Given the description of an element on the screen output the (x, y) to click on. 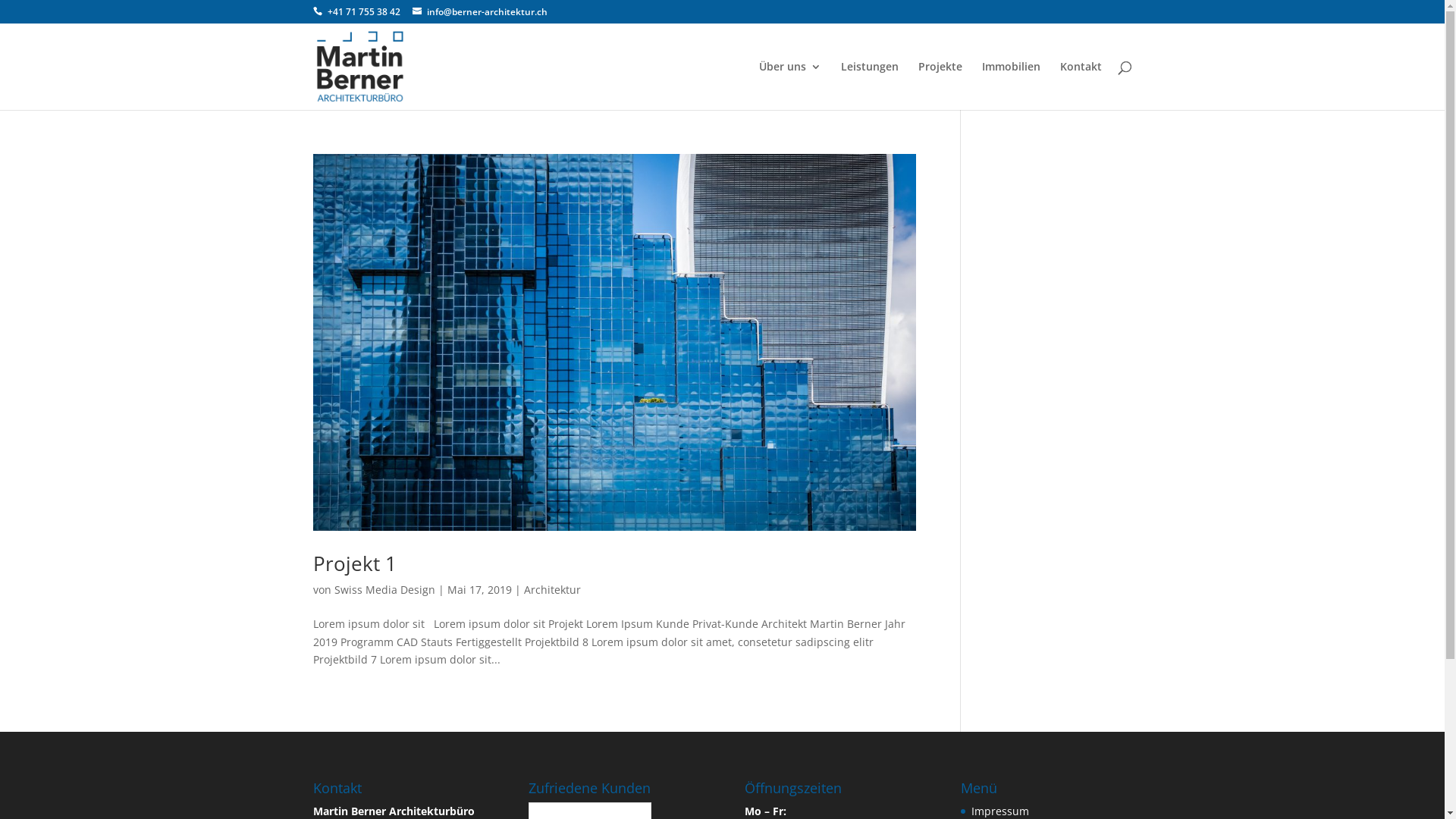
Architektur Element type: text (551, 589)
info@berner-architektur.ch Element type: text (479, 11)
Projekt 1 Element type: text (353, 563)
Impressum Element type: text (1000, 810)
Swiss Media Design Element type: text (383, 589)
Kontakt Element type: text (1080, 85)
Immobilien Element type: text (1010, 85)
Projekte Element type: text (939, 85)
Leistungen Element type: text (868, 85)
